Given the description of an element on the screen output the (x, y) to click on. 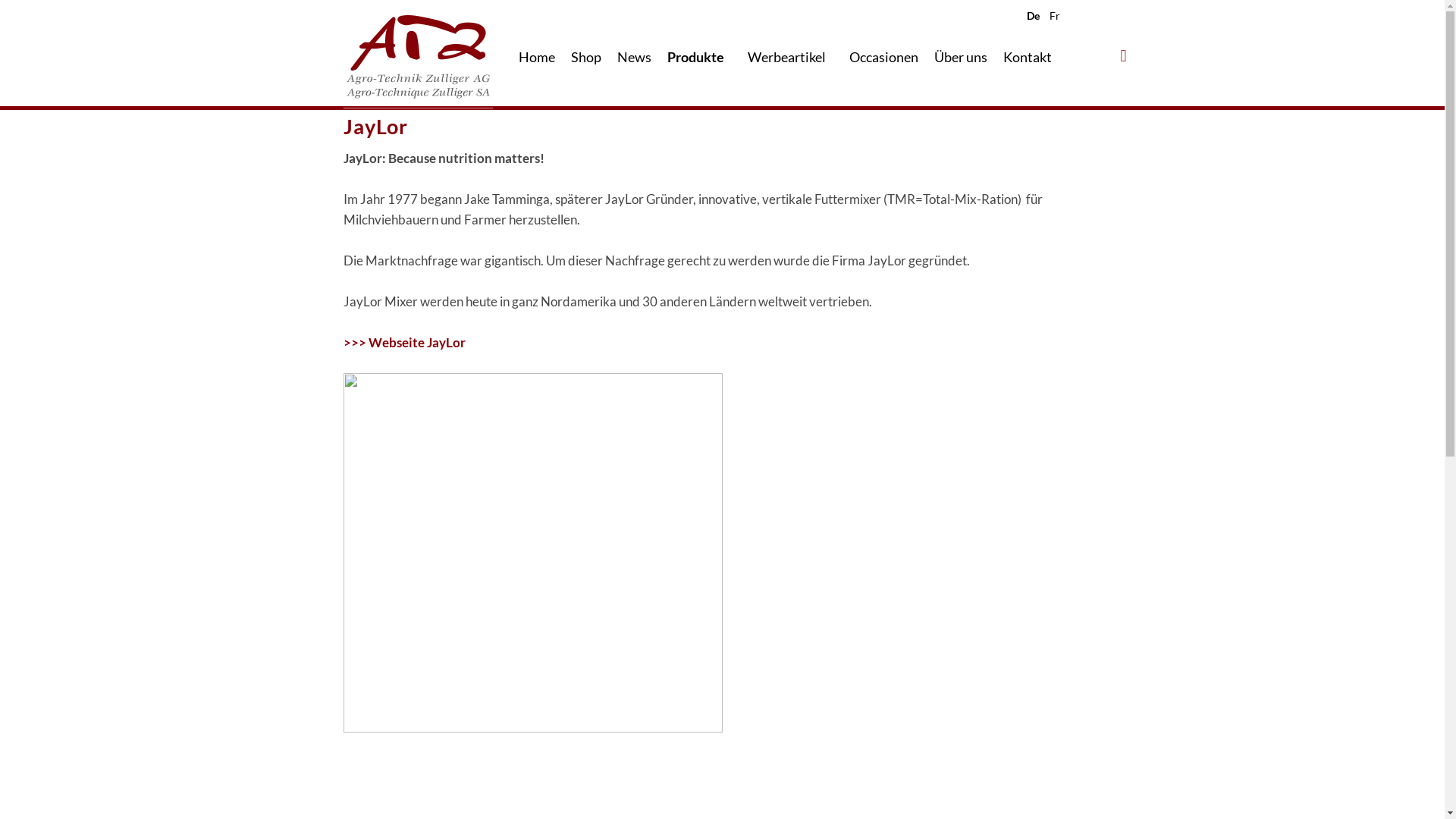
Shop Element type: text (585, 56)
Kontakt Element type: text (1026, 56)
News Element type: text (634, 56)
Home Element type: text (536, 56)
De Element type: text (1036, 15)
Agro-Technik Zulliger AG Element type: hover (417, 62)
Werbeartikel Element type: text (786, 56)
>>> Webseite JayLor Element type: text (403, 342)
Fr Element type: text (1058, 15)
Occasionen Element type: text (883, 56)
Produkte Element type: text (695, 56)
